Given the description of an element on the screen output the (x, y) to click on. 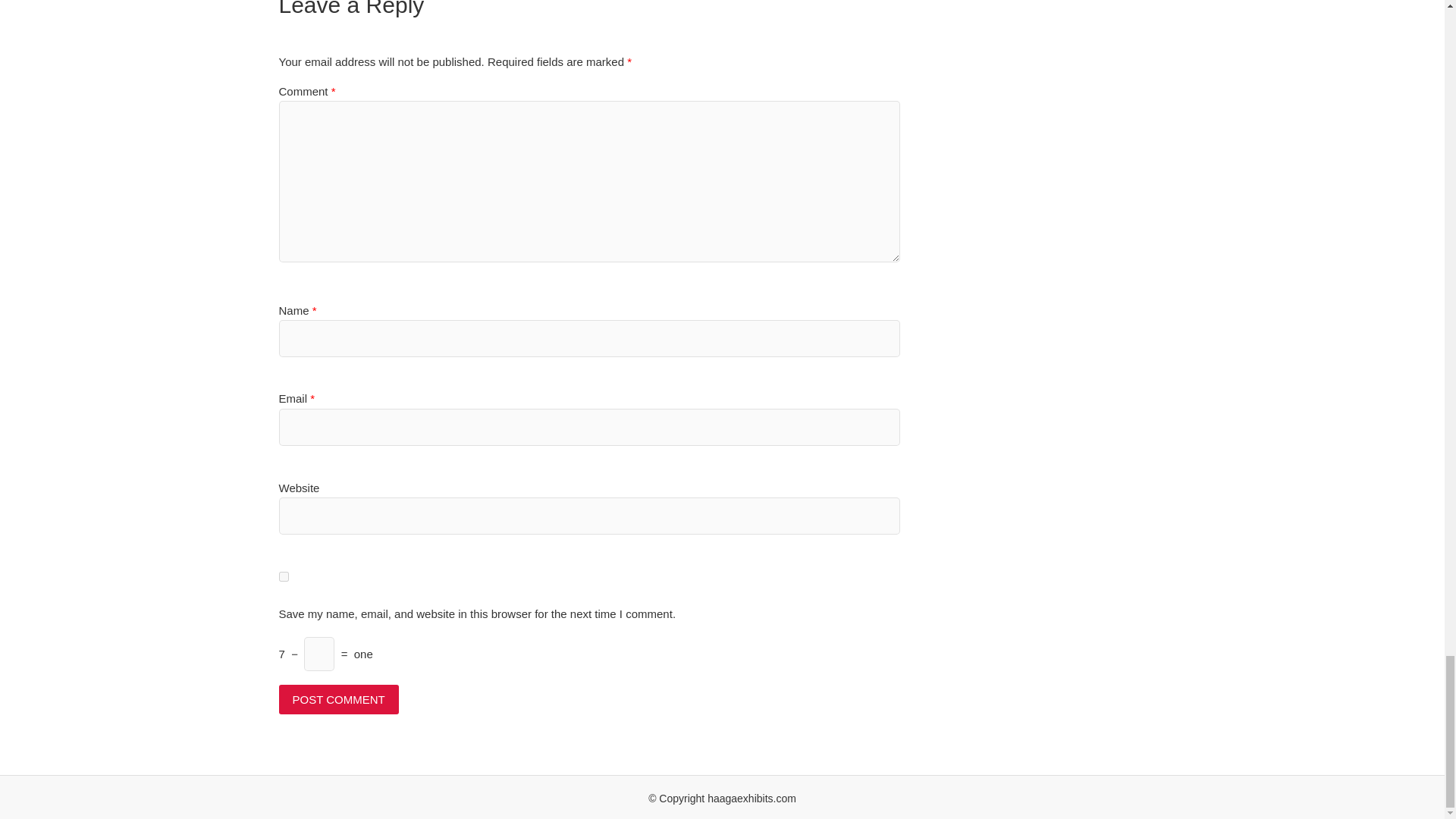
yes (283, 576)
Post Comment (338, 699)
